Given the description of an element on the screen output the (x, y) to click on. 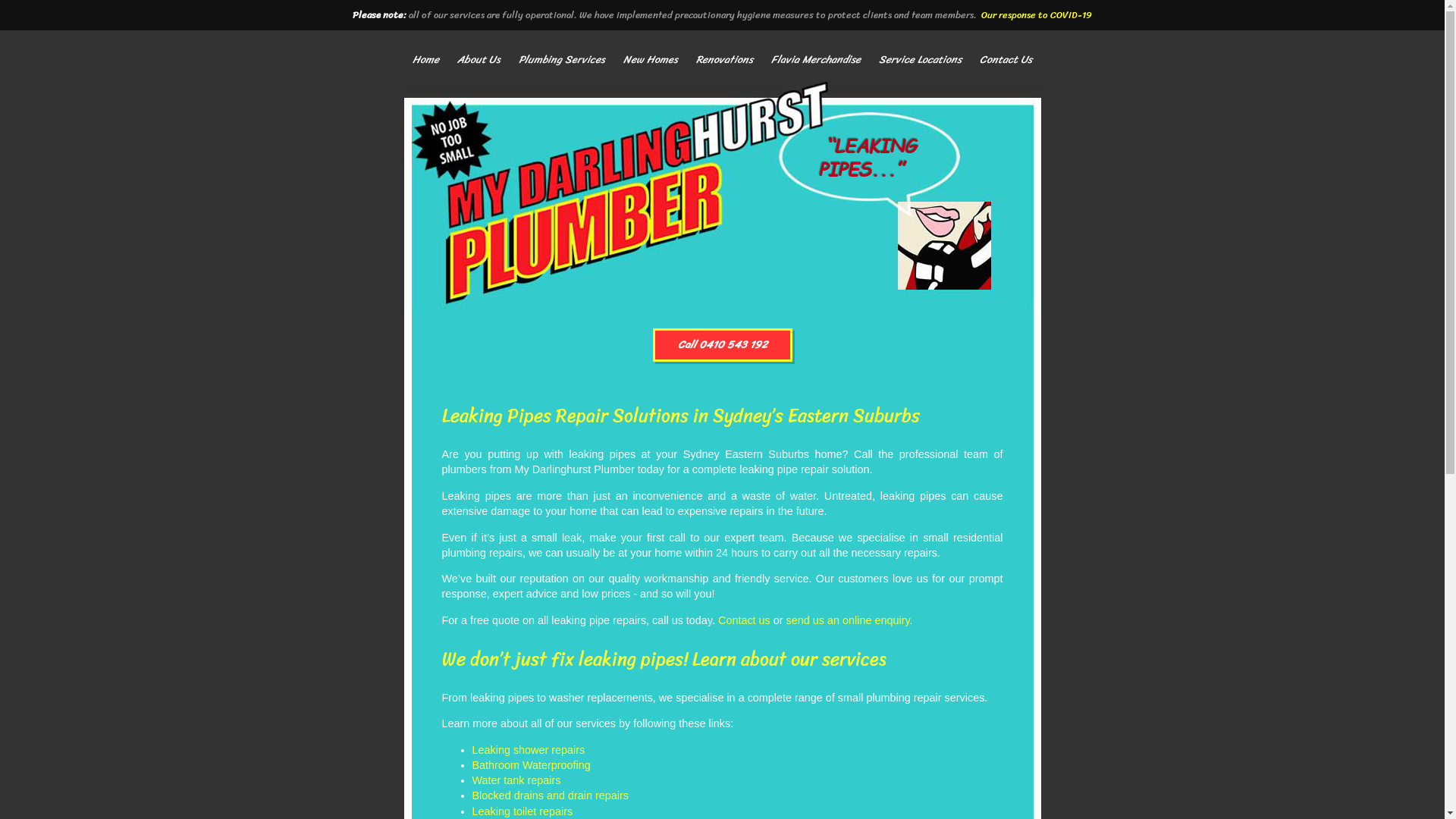
Renovations Element type: text (724, 59)
Leaking toilet repairs Element type: text (521, 811)
Plumbing Services Element type: text (561, 59)
Call 0410 543 192 Element type: text (721, 344)
Home Element type: text (425, 59)
Leaking shower repairs Element type: text (527, 749)
send us an online enquiry Element type: text (848, 620)
Flavia Merchandise Element type: text (815, 59)
Our response to COVID-19 Element type: text (1036, 14)
Contact Us Element type: text (1005, 59)
Contact us Element type: text (744, 620)
Water tank repairs Element type: text (515, 780)
About Us Element type: text (478, 59)
Bathroom Waterproofing Element type: text (530, 765)
Service Locations Element type: text (920, 59)
New Homes Element type: text (650, 59)
Blocked drains and drain repairs Element type: text (549, 795)
